Given the description of an element on the screen output the (x, y) to click on. 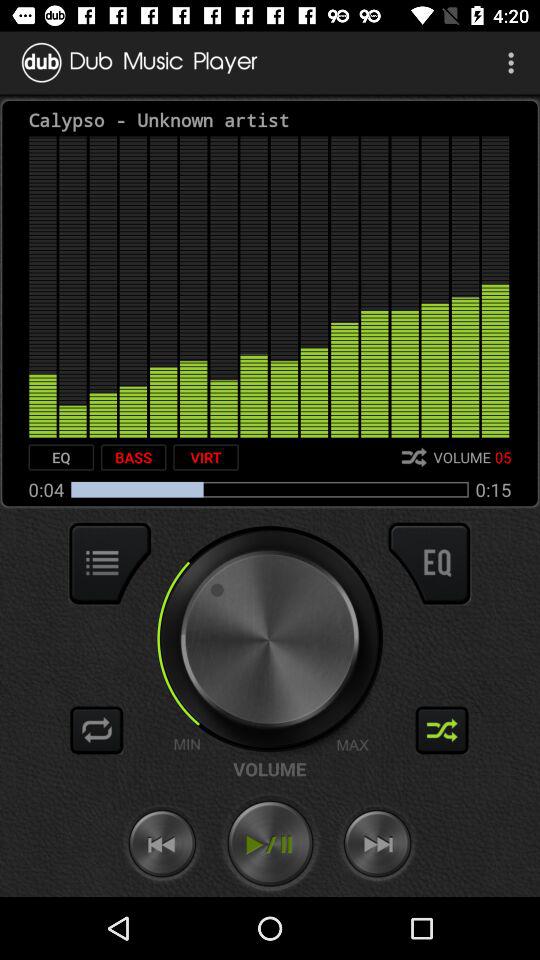
open icon next to the  virt (133, 457)
